Given the description of an element on the screen output the (x, y) to click on. 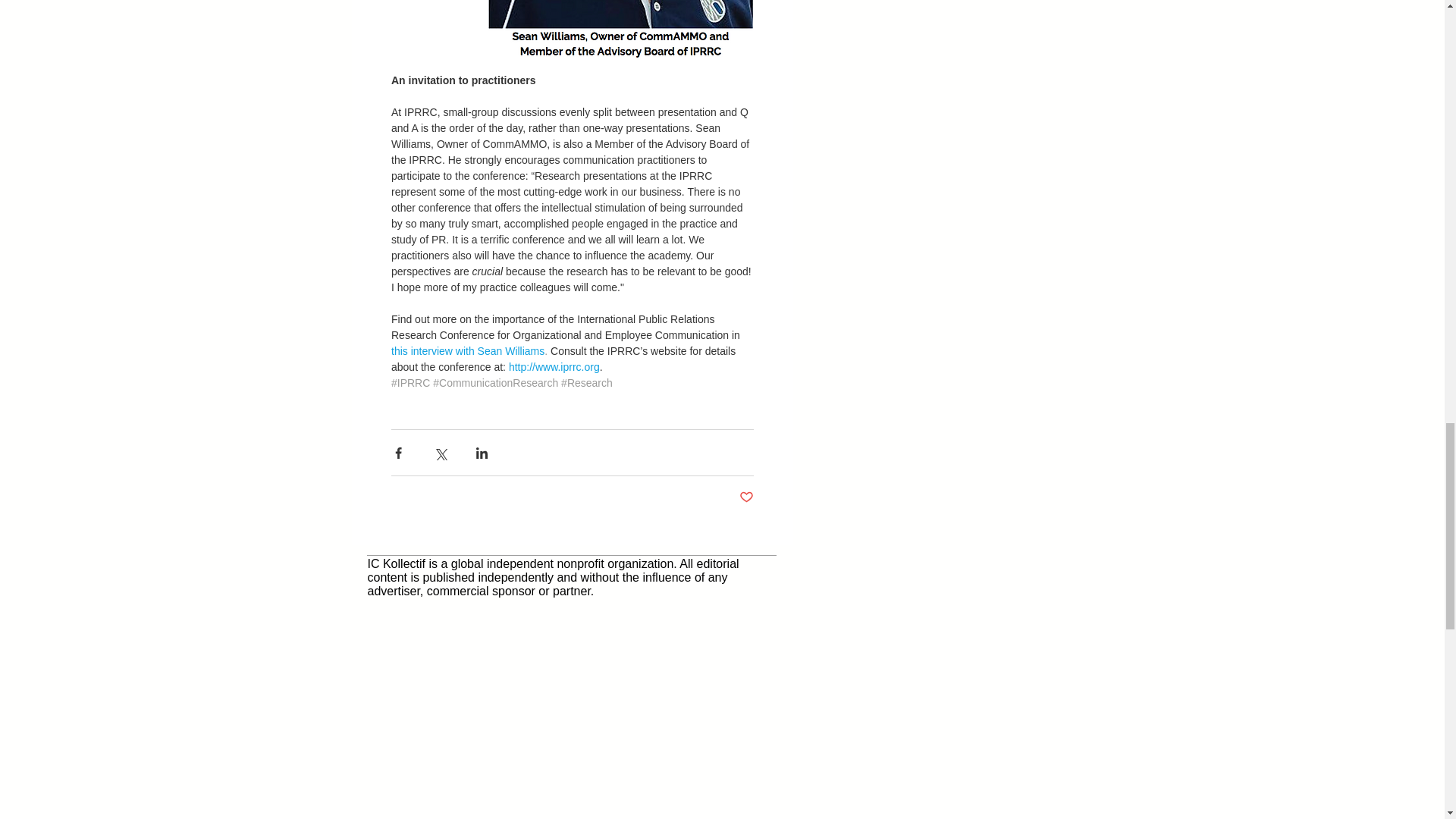
Post not marked as liked (745, 497)
this interview with Sean Williams (467, 350)
Twitter Follow (978, 64)
